Given the description of an element on the screen output the (x, y) to click on. 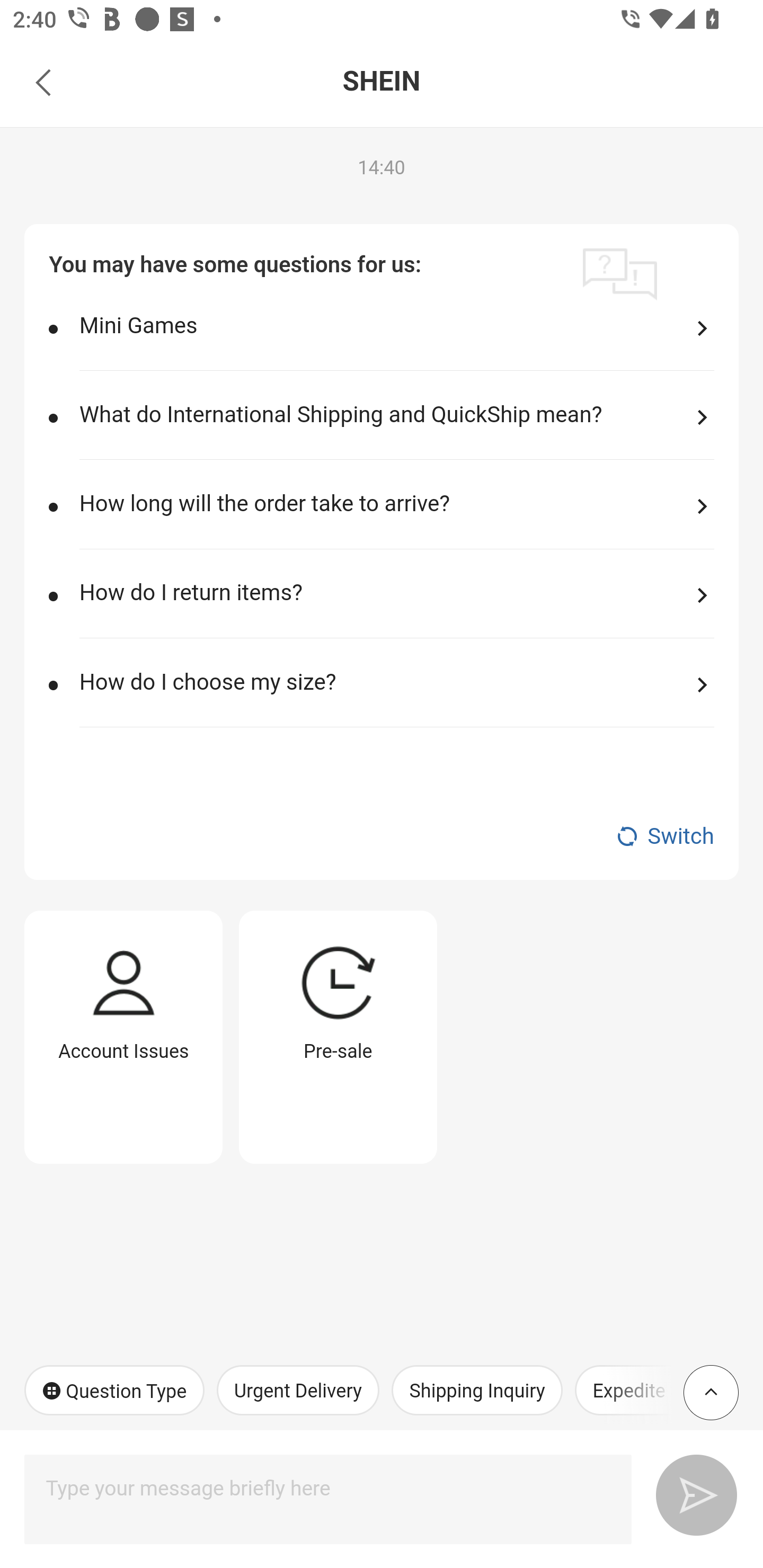
Back (43, 81)
Mini Games  (396, 339)
How long will the order take to arrive?  (396, 518)
How do I return items?  (396, 606)
How do I choose my size?  (396, 695)
 Switch (381, 836)
Enter (688, 1492)
